Given the description of an element on the screen output the (x, y) to click on. 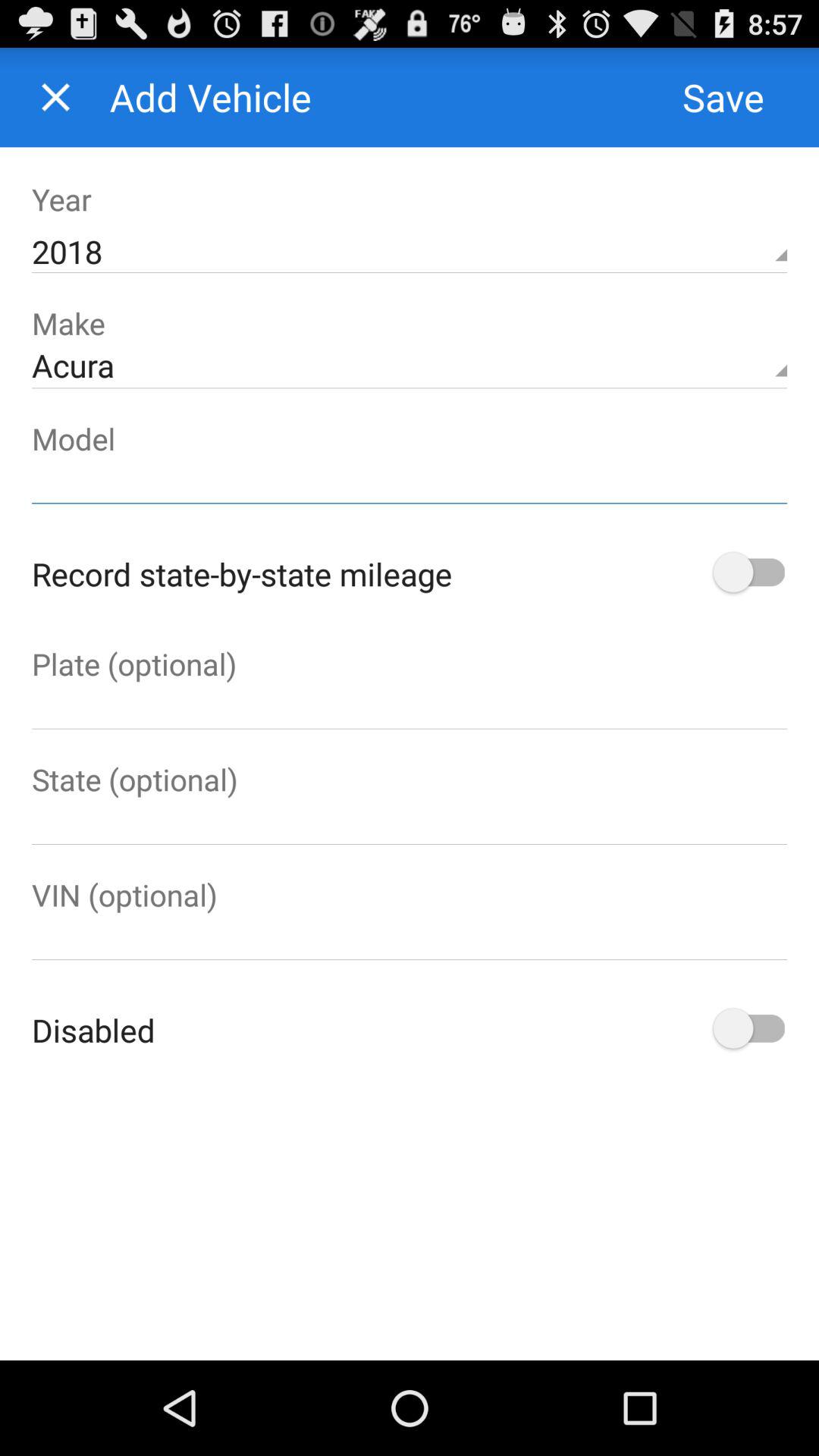
ender the state (409, 821)
